Given the description of an element on the screen output the (x, y) to click on. 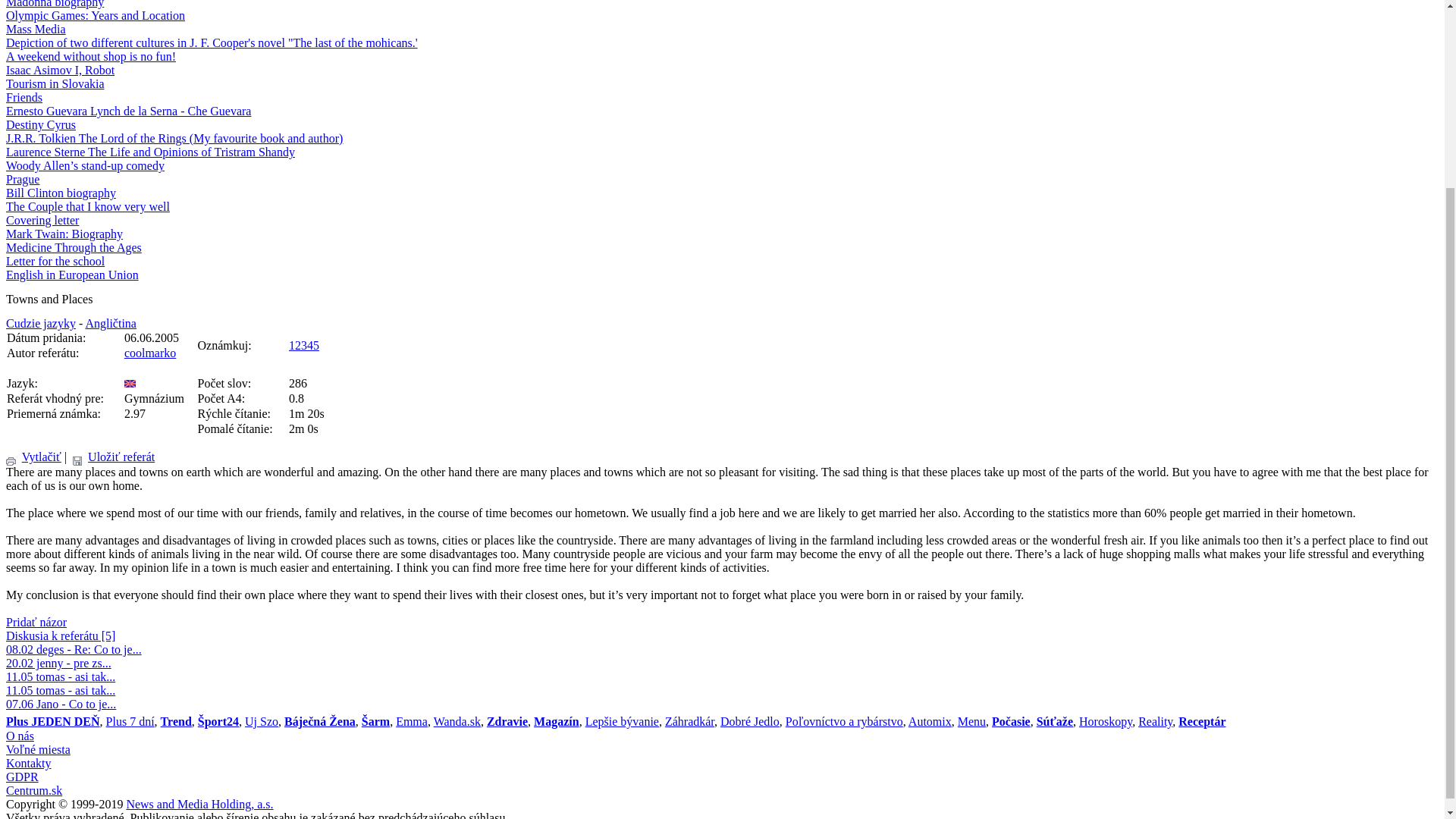
Prague (22, 178)
Medicine Through the Ages (73, 246)
Laurence Sterne The Life and Opinions of Tristram Shandy (150, 151)
Bill Clinton biography (60, 192)
Isaac Asimov I, Robot (60, 69)
Destiny Cyrus (40, 124)
A weekend without shop is no fun! (90, 56)
The Couple that I know very well (87, 205)
English in European Union (71, 274)
Tourism in Slovakia (54, 83)
